Given the description of an element on the screen output the (x, y) to click on. 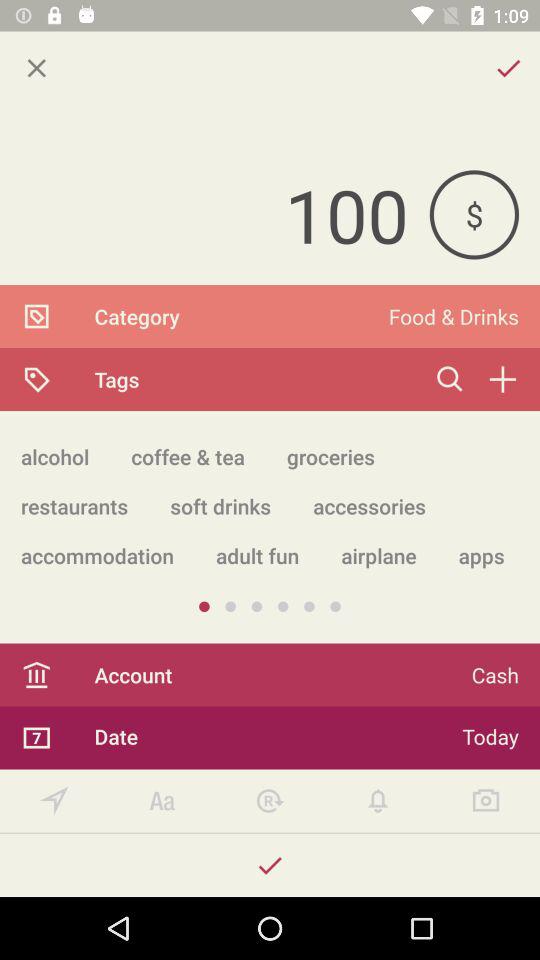
turn on item below food & drinks icon (502, 379)
